Given the description of an element on the screen output the (x, y) to click on. 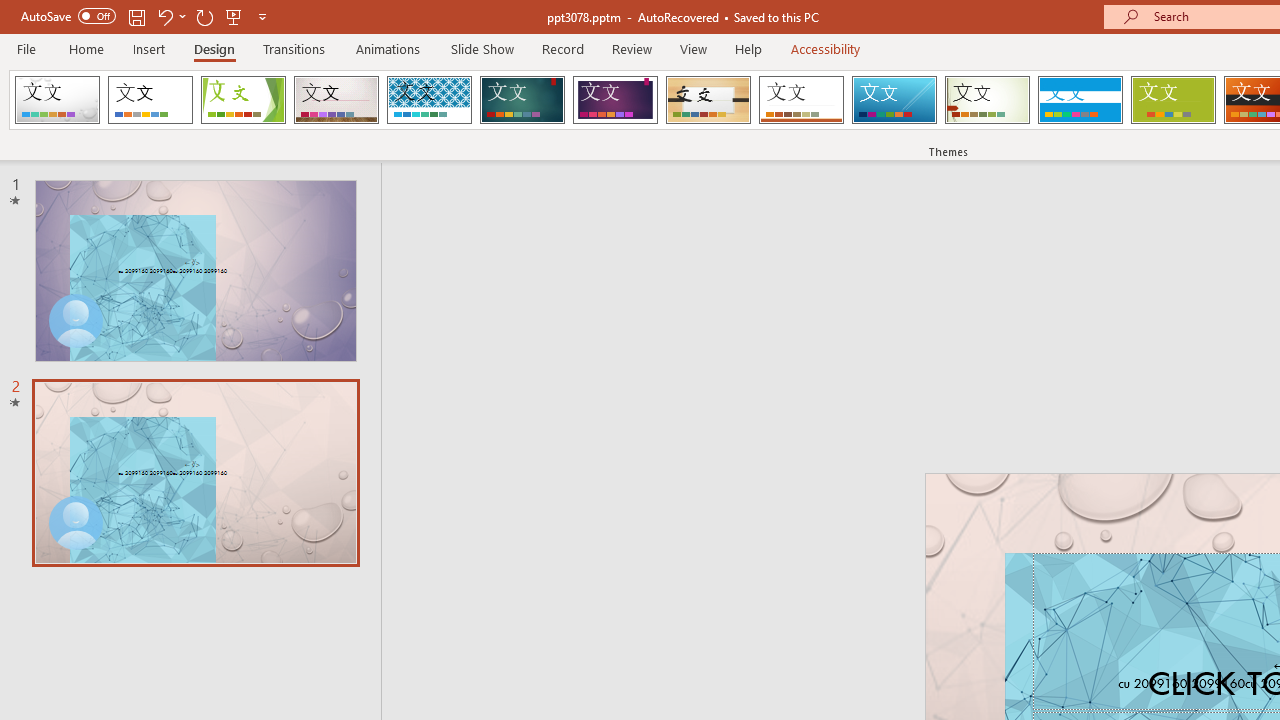
Facet (243, 100)
Banded (1080, 100)
Wisp (987, 100)
Ion (522, 100)
Office Theme (150, 100)
Ion Boardroom (615, 100)
